Given the description of an element on the screen output the (x, y) to click on. 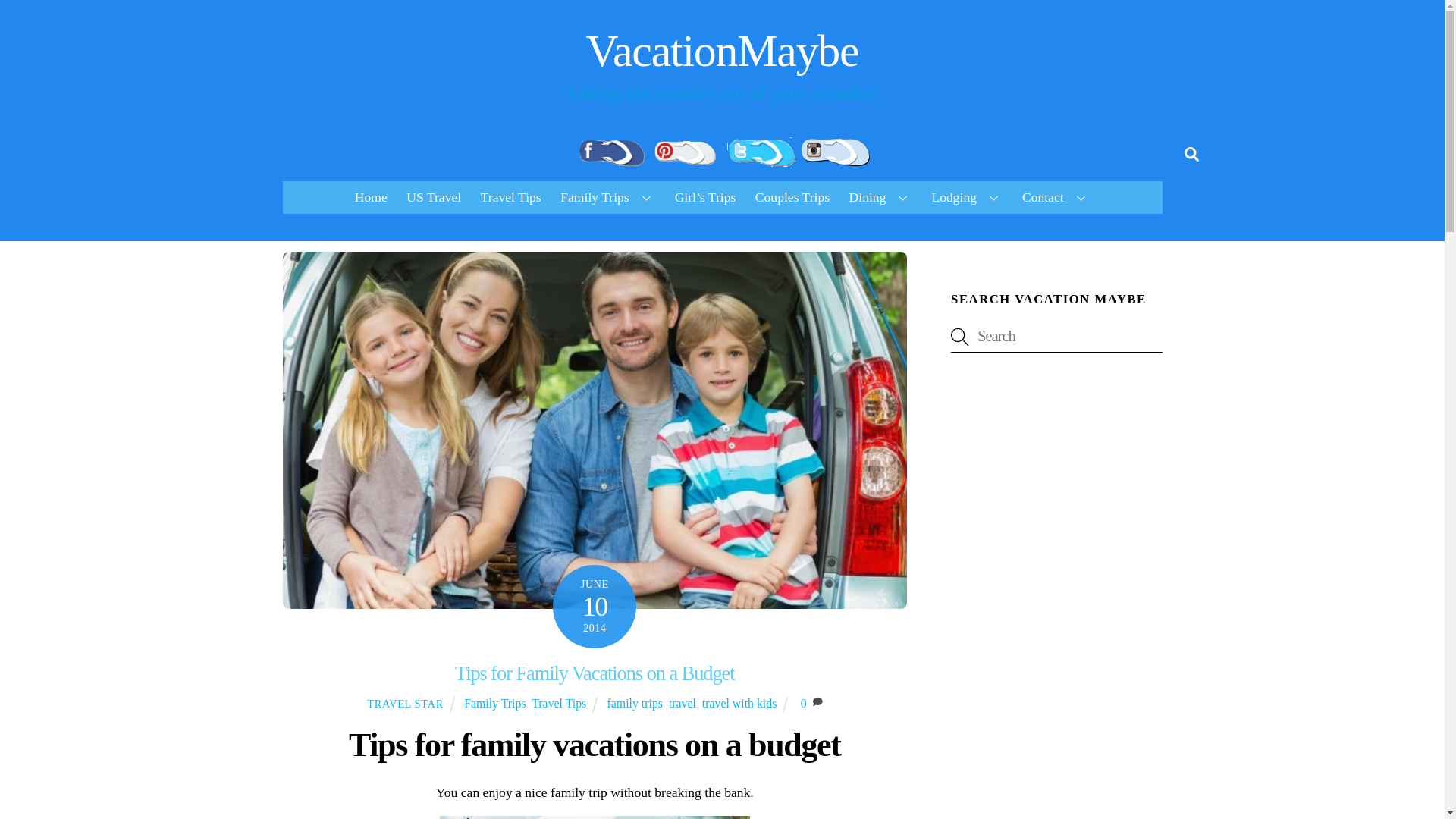
VacationMaybe (722, 50)
Travel Tips (509, 196)
Search (1055, 336)
family trips (634, 703)
travel (681, 703)
travel with kids (738, 703)
Family Trips (494, 703)
Home (370, 196)
Couples Trips (791, 196)
Lodging (966, 196)
Dining (880, 196)
Travel Tips (558, 703)
Tips for Family Vacations on a Budget (594, 672)
Contact (1055, 196)
